Given the description of an element on the screen output the (x, y) to click on. 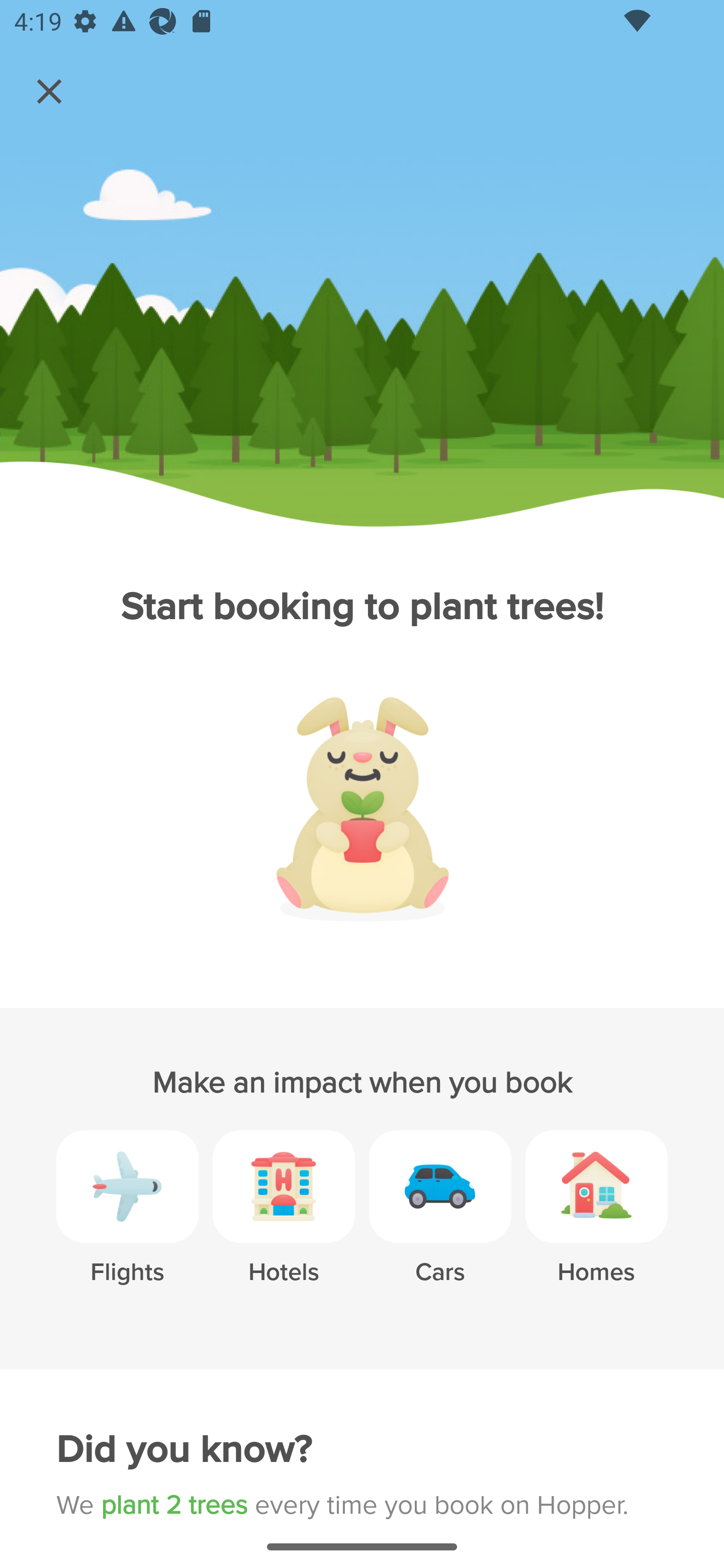
Navigate up (49, 91)
Flights (127, 1221)
Hotels (283, 1221)
Cars (440, 1221)
Homes (596, 1221)
